Given the description of an element on the screen output the (x, y) to click on. 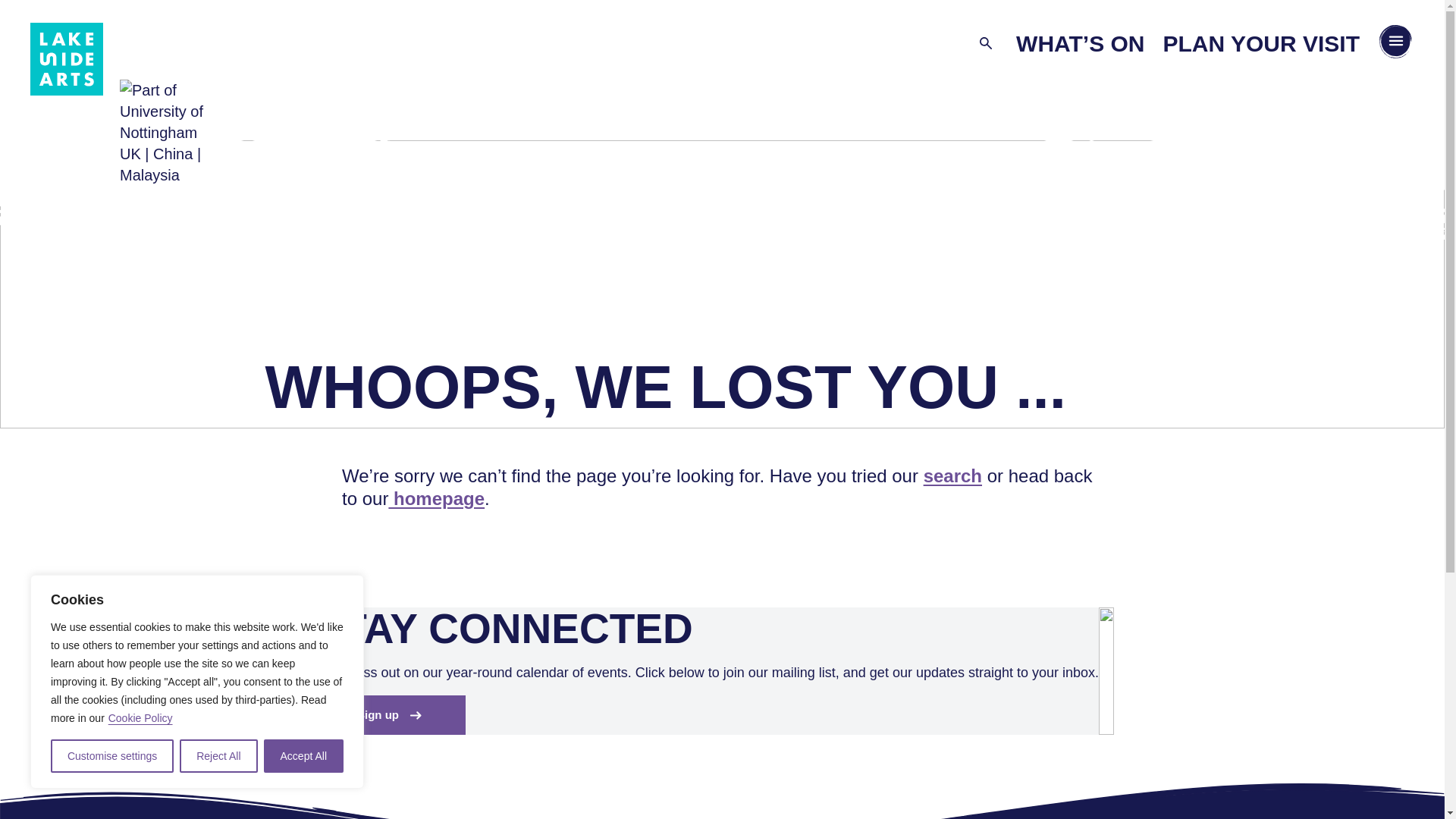
Accept All (303, 756)
Cookie Policy (140, 717)
Customise settings (111, 756)
Search (985, 43)
Open Navigation (1395, 43)
PLAN YOUR VISIT (1261, 42)
Reject All (218, 756)
Back to homepage (66, 61)
